Given the description of an element on the screen output the (x, y) to click on. 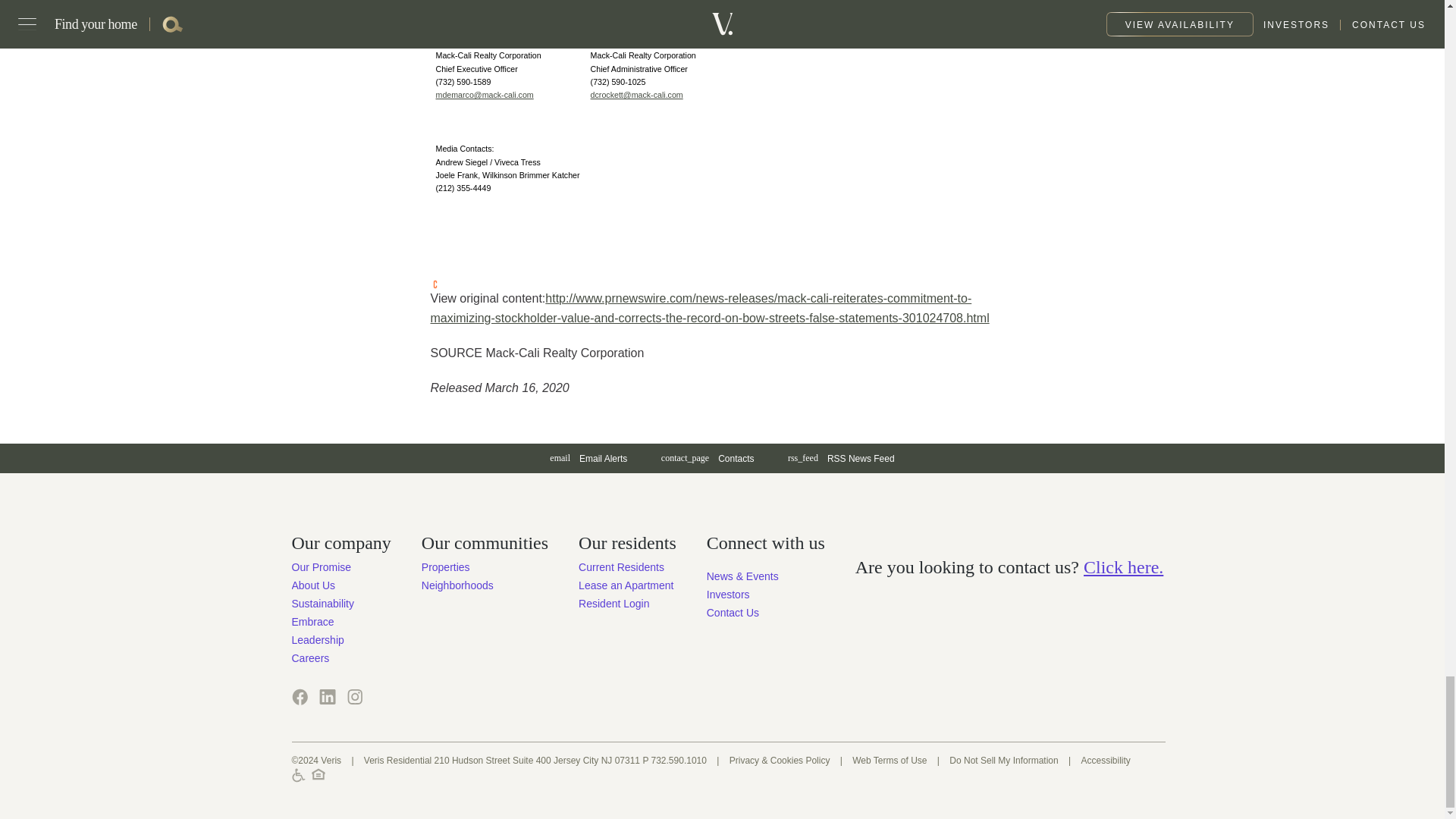
Opens in a new window (354, 696)
Cision (434, 284)
Opens in a new window (727, 594)
Opens in a new window (636, 94)
Opens in a new window (326, 696)
Opens in a new window (841, 458)
Opens in a new window (299, 696)
Opens in a new window (483, 94)
